Given the description of an element on the screen output the (x, y) to click on. 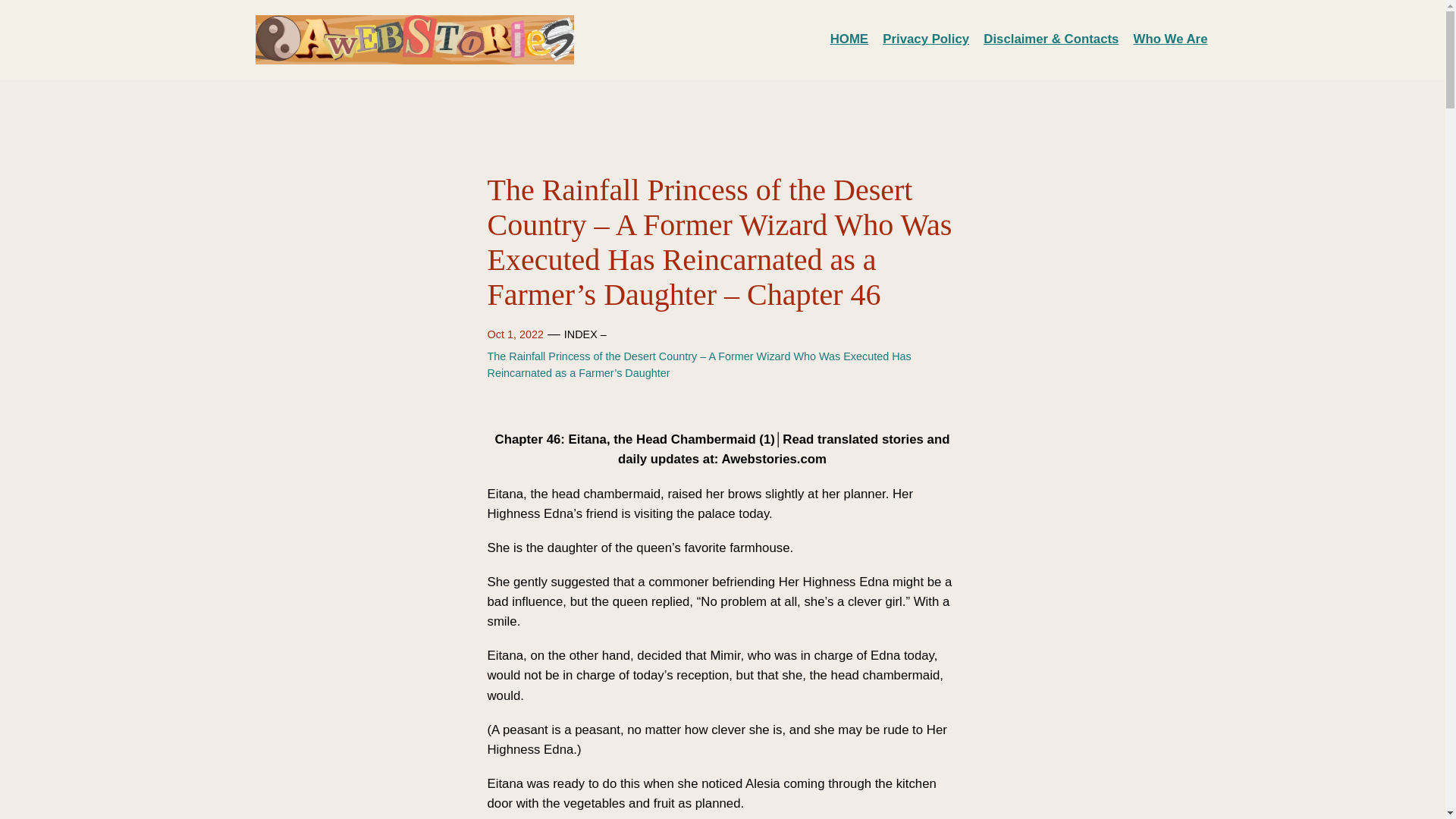
HOME (848, 38)
Who We Are (1171, 38)
Privacy Policy (925, 38)
Oct 1, 2022 (514, 334)
